Given the description of an element on the screen output the (x, y) to click on. 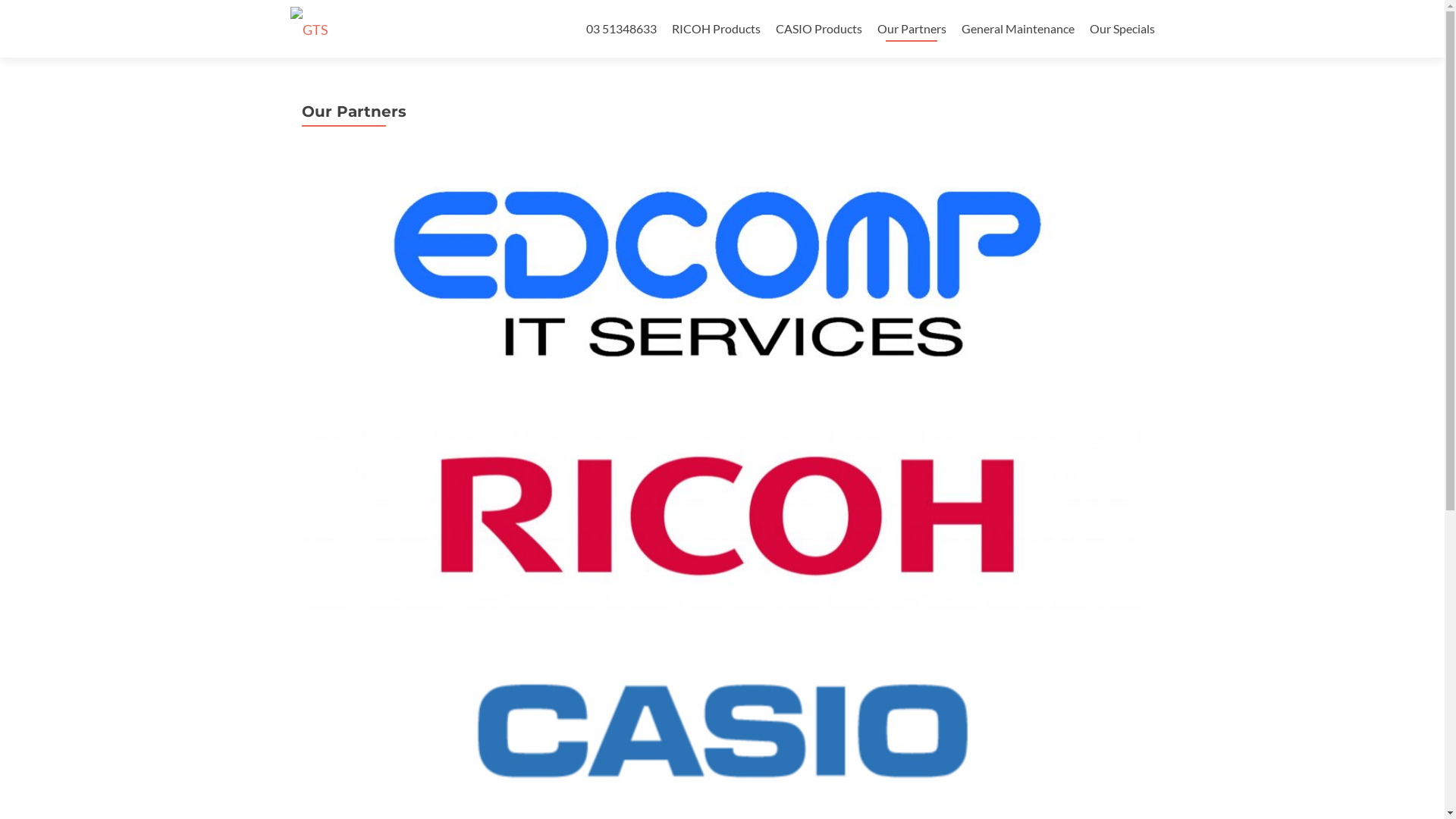
Our Specials Element type: text (1121, 28)
03 51348633 Element type: text (620, 28)
General Maintenance Element type: text (1017, 28)
RICOH Products Element type: text (715, 28)
Our Partners Element type: text (910, 28)
CASIO Products Element type: text (818, 28)
